Given the description of an element on the screen output the (x, y) to click on. 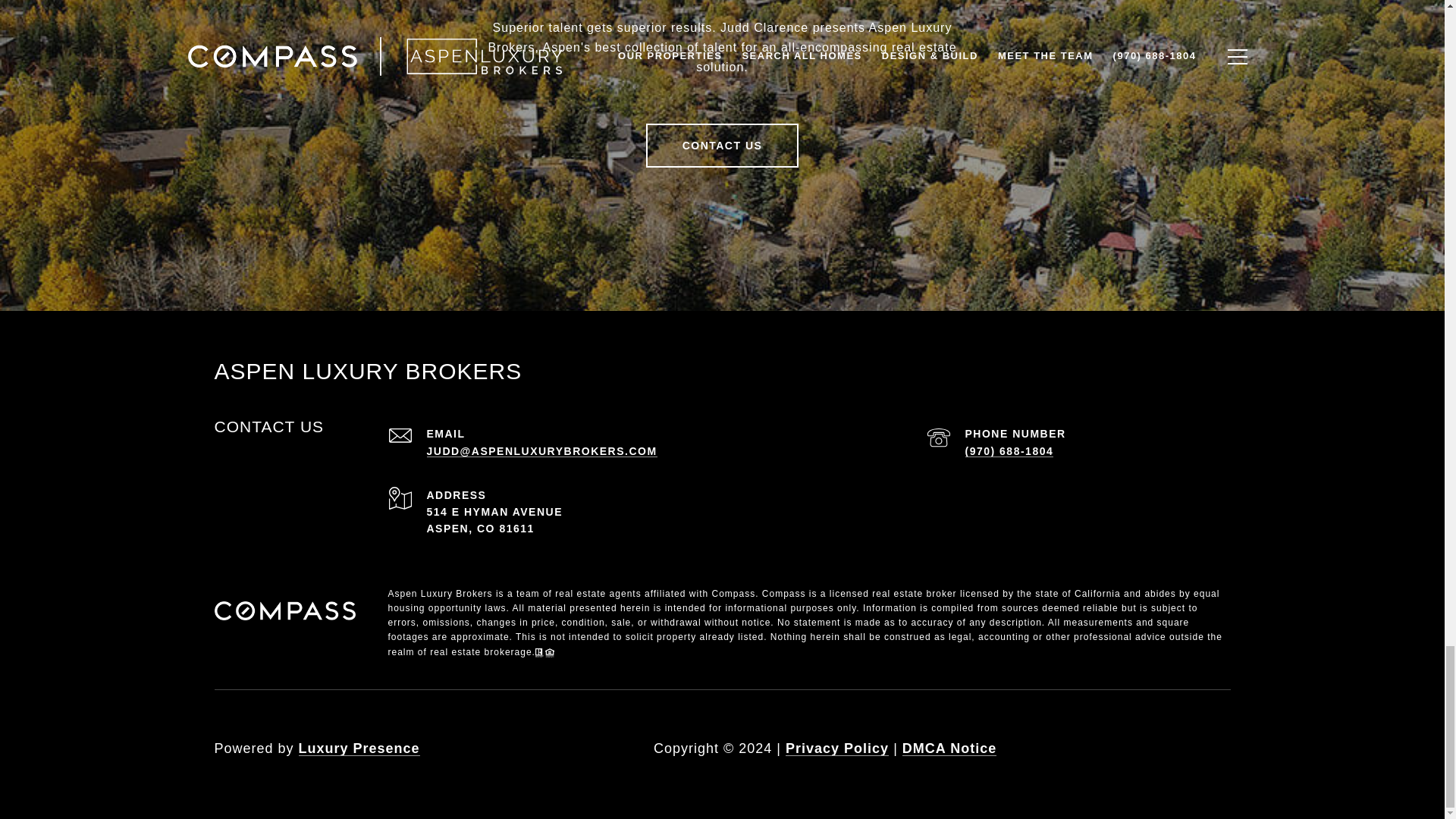
Luxury Presence (359, 748)
Privacy Policy (837, 748)
DMCA Notice (948, 748)
CONTACT US (722, 145)
